Given the description of an element on the screen output the (x, y) to click on. 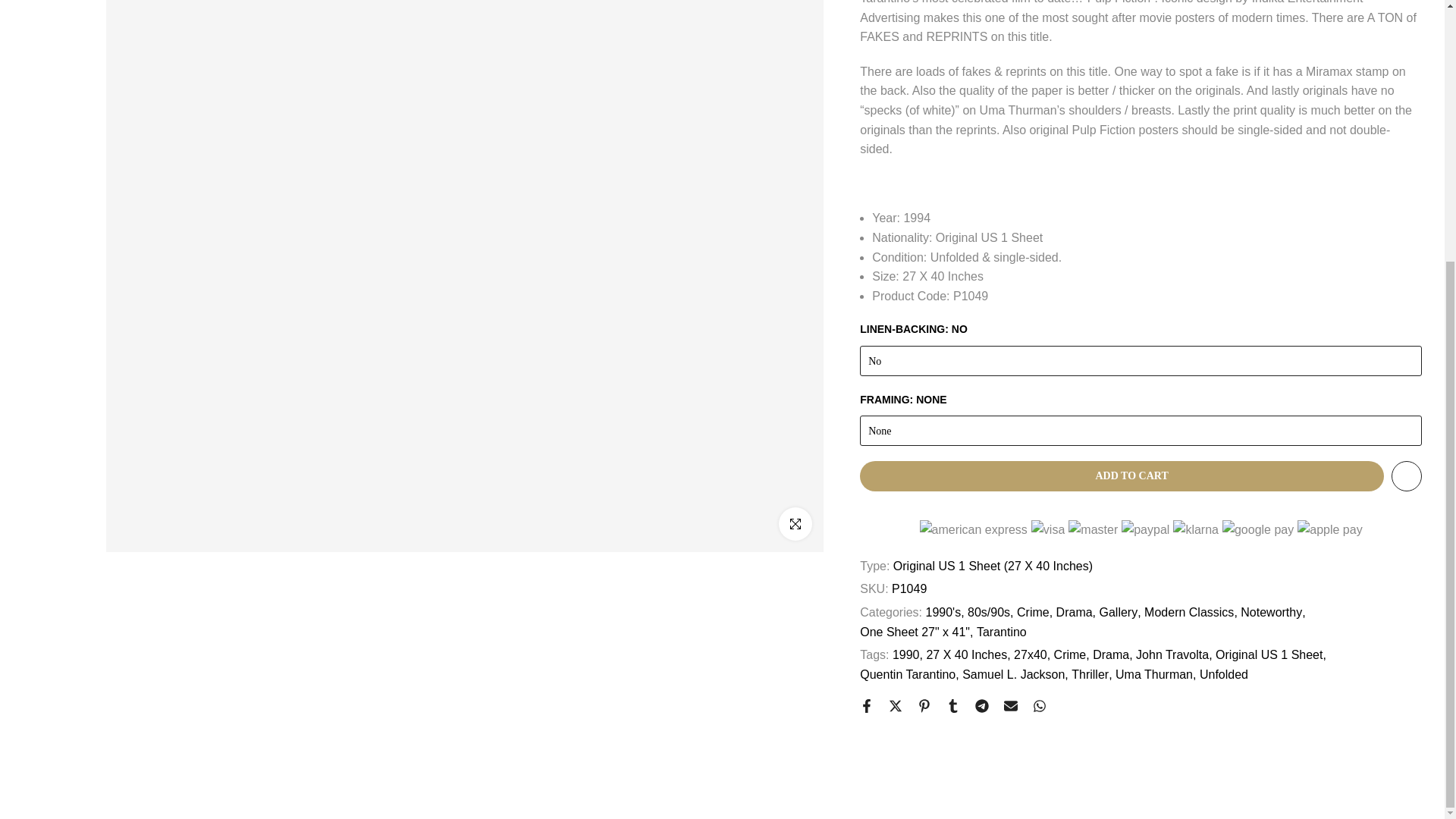
Share on WhatsApp (1039, 705)
Share on Email (1010, 705)
Share on Telegram (981, 705)
None (1141, 430)
No (1141, 360)
Share on Twitter (895, 705)
Share on Tumblr (952, 705)
Share on Pinterest (924, 705)
Share on Facebook (866, 705)
